Given the description of an element on the screen output the (x, y) to click on. 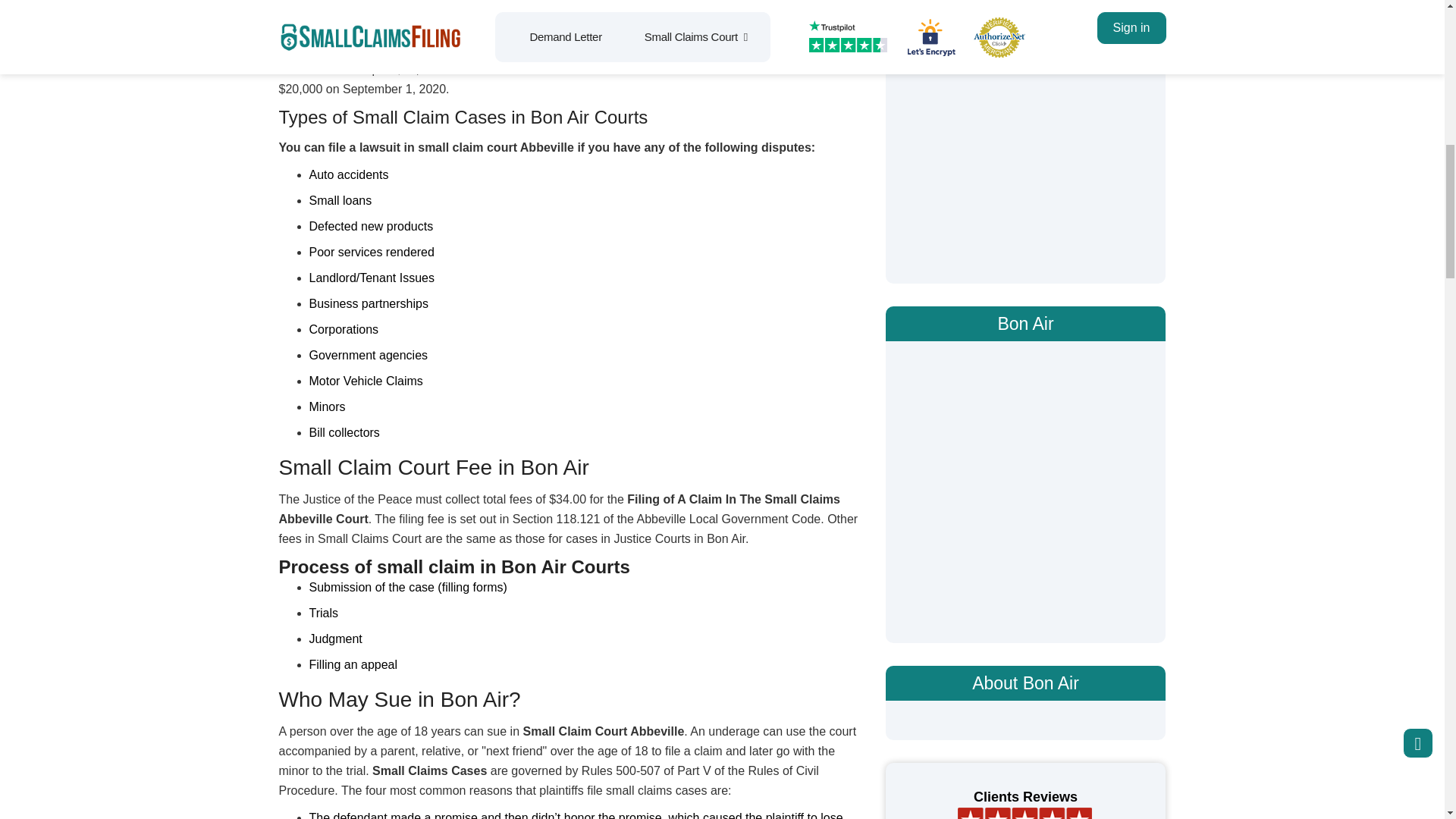
YouTube video player (1026, 131)
